Given the description of an element on the screen output the (x, y) to click on. 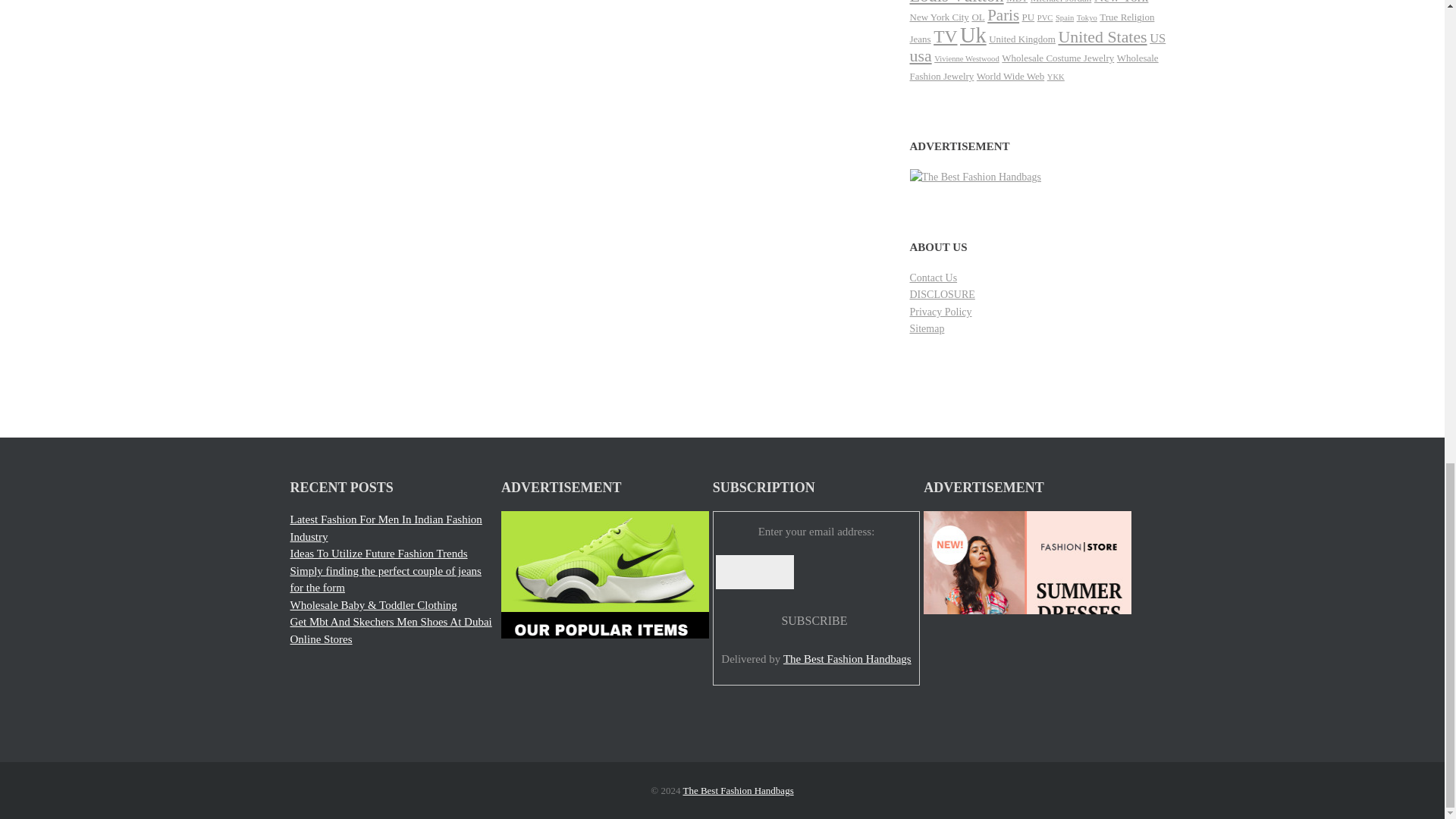
Subscribe (813, 620)
